Given the description of an element on the screen output the (x, y) to click on. 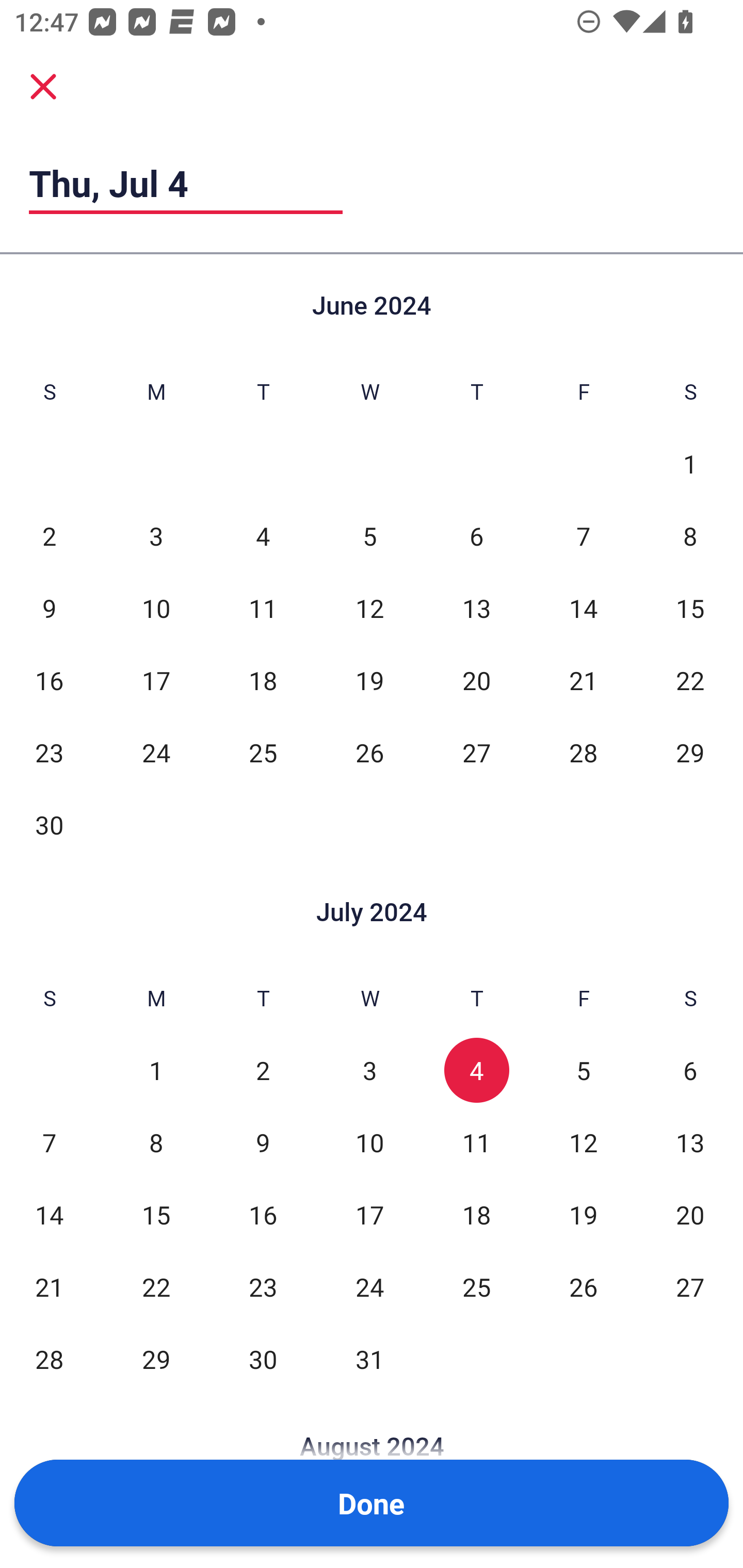
Cancel (43, 86)
Thu, Jul 4 (185, 182)
1 Sat, Jun 1, Not Selected (690, 464)
2 Sun, Jun 2, Not Selected (49, 536)
3 Mon, Jun 3, Not Selected (156, 536)
4 Tue, Jun 4, Not Selected (263, 536)
5 Wed, Jun 5, Not Selected (369, 536)
6 Thu, Jun 6, Not Selected (476, 536)
7 Fri, Jun 7, Not Selected (583, 536)
8 Sat, Jun 8, Not Selected (690, 536)
9 Sun, Jun 9, Not Selected (49, 608)
10 Mon, Jun 10, Not Selected (156, 608)
11 Tue, Jun 11, Not Selected (263, 608)
12 Wed, Jun 12, Not Selected (369, 608)
13 Thu, Jun 13, Not Selected (476, 608)
14 Fri, Jun 14, Not Selected (583, 608)
15 Sat, Jun 15, Not Selected (690, 608)
16 Sun, Jun 16, Not Selected (49, 680)
17 Mon, Jun 17, Not Selected (156, 680)
18 Tue, Jun 18, Not Selected (263, 680)
19 Wed, Jun 19, Not Selected (369, 680)
20 Thu, Jun 20, Not Selected (476, 680)
21 Fri, Jun 21, Not Selected (583, 680)
22 Sat, Jun 22, Not Selected (690, 680)
23 Sun, Jun 23, Not Selected (49, 752)
24 Mon, Jun 24, Not Selected (156, 752)
25 Tue, Jun 25, Not Selected (263, 752)
26 Wed, Jun 26, Not Selected (369, 752)
27 Thu, Jun 27, Not Selected (476, 752)
28 Fri, Jun 28, Not Selected (583, 752)
29 Sat, Jun 29, Not Selected (690, 752)
30 Sun, Jun 30, Not Selected (49, 824)
1 Mon, Jul 1, Not Selected (156, 1070)
2 Tue, Jul 2, Not Selected (263, 1070)
3 Wed, Jul 3, Not Selected (369, 1070)
4 Thu, Jul 4, Selected (476, 1070)
5 Fri, Jul 5, Not Selected (583, 1070)
6 Sat, Jul 6, Not Selected (690, 1070)
7 Sun, Jul 7, Not Selected (49, 1143)
8 Mon, Jul 8, Not Selected (156, 1143)
9 Tue, Jul 9, Not Selected (263, 1143)
10 Wed, Jul 10, Not Selected (369, 1143)
11 Thu, Jul 11, Not Selected (476, 1143)
12 Fri, Jul 12, Not Selected (583, 1143)
13 Sat, Jul 13, Not Selected (690, 1143)
14 Sun, Jul 14, Not Selected (49, 1215)
15 Mon, Jul 15, Not Selected (156, 1215)
16 Tue, Jul 16, Not Selected (263, 1215)
17 Wed, Jul 17, Not Selected (369, 1215)
18 Thu, Jul 18, Not Selected (476, 1215)
